Given the description of an element on the screen output the (x, y) to click on. 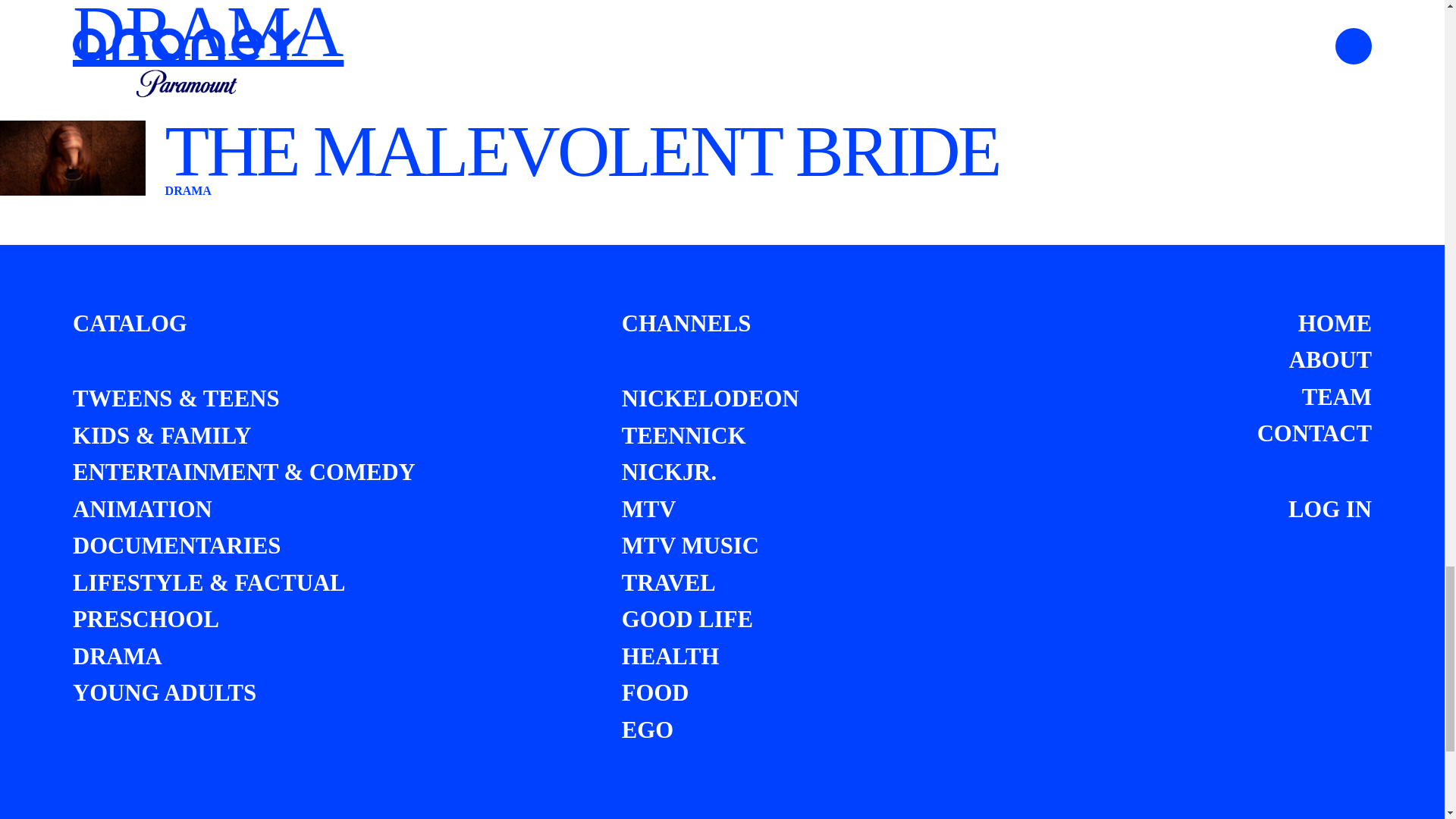
ANIMATION (142, 509)
NICKELODEON (710, 398)
CATALOG (129, 323)
DRAMA (116, 656)
CHANNELS (686, 323)
DOCUMENTARIES (176, 545)
YOUNG ADULTS (164, 692)
DRAMA (207, 37)
PRESCHOOL (145, 619)
